Given the description of an element on the screen output the (x, y) to click on. 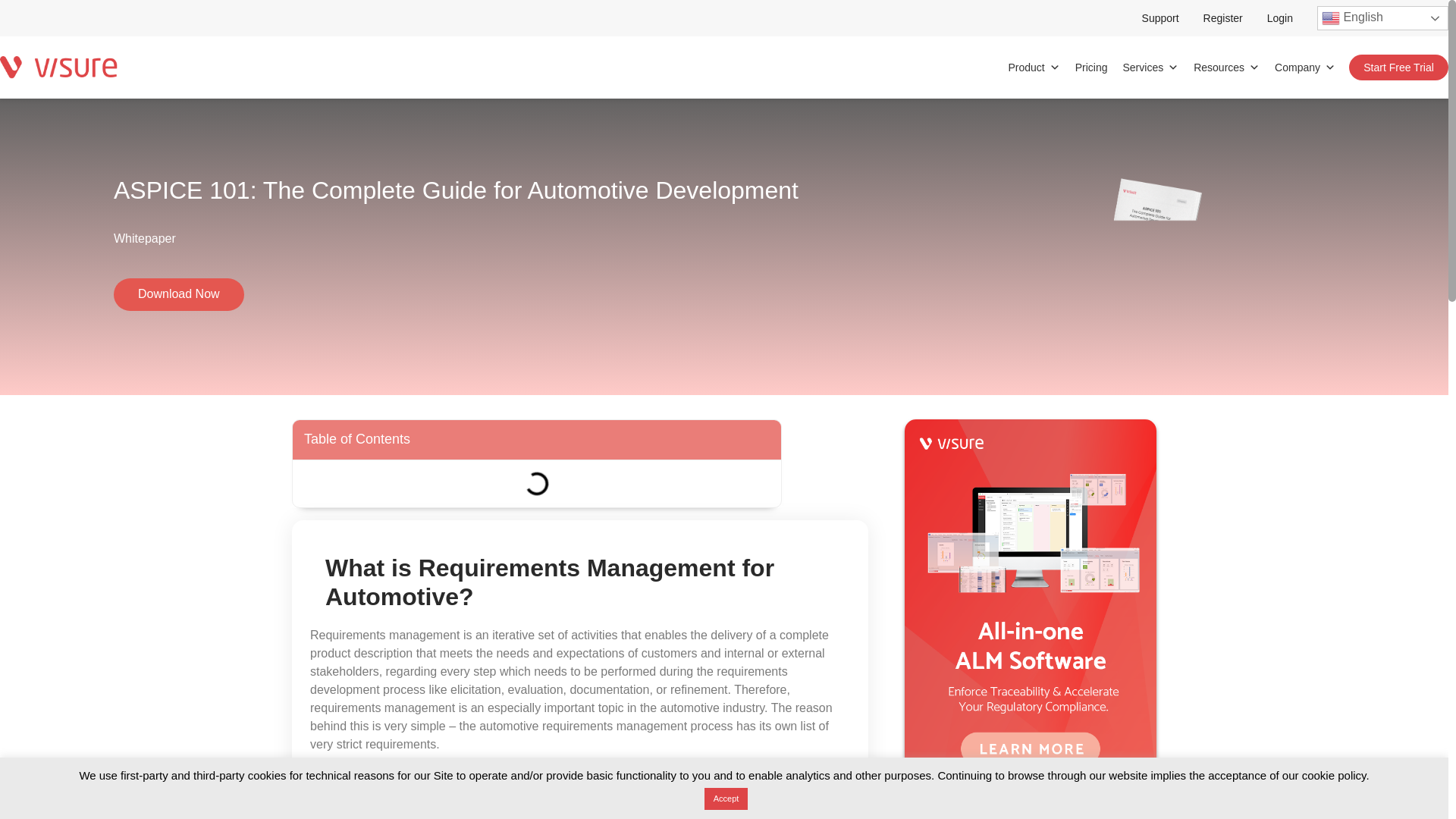
Register (1223, 18)
Login (1279, 18)
Support (1160, 18)
Product (1033, 67)
